Given the description of an element on the screen output the (x, y) to click on. 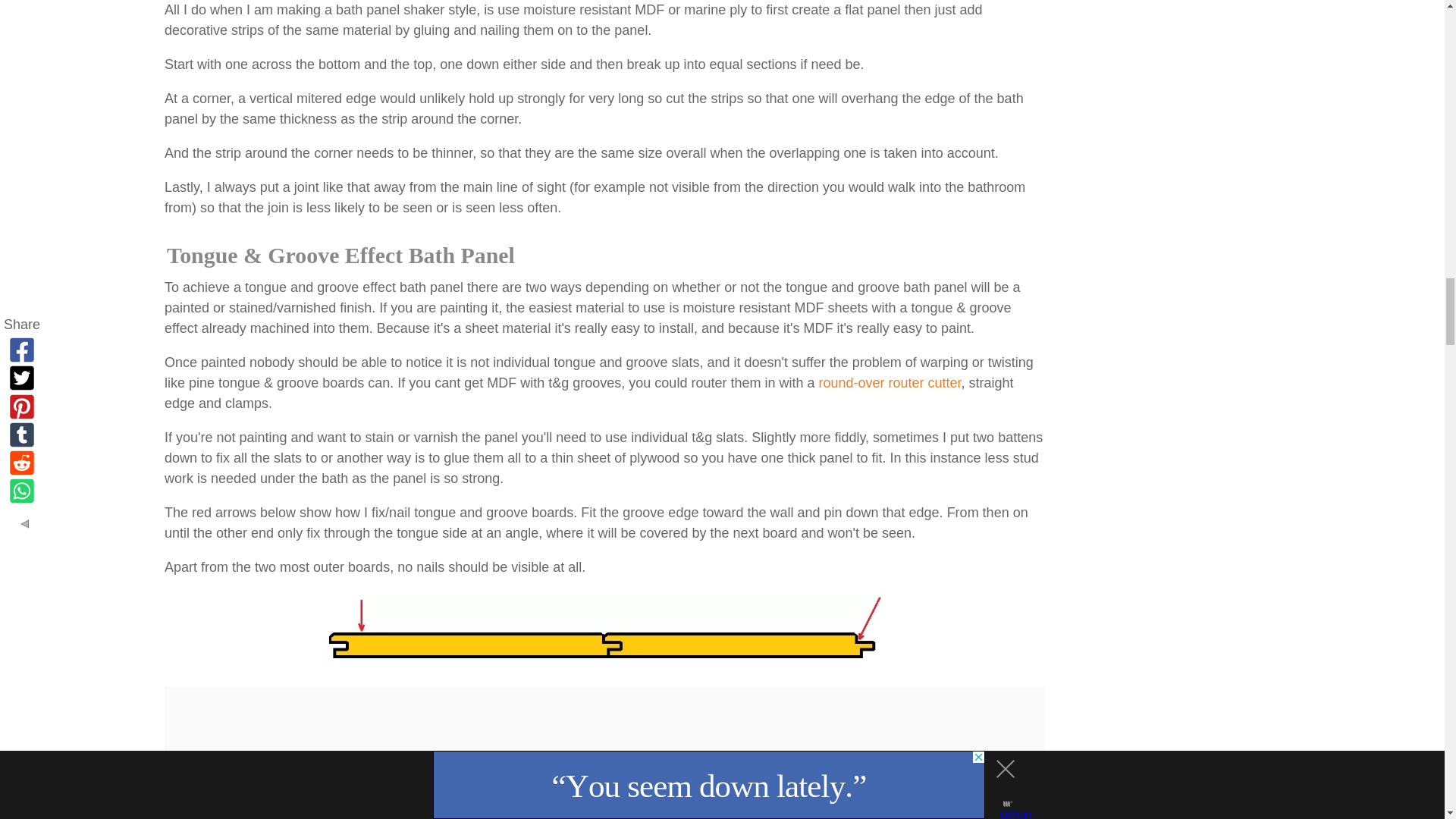
round-over router cutter (889, 382)
